Given the description of an element on the screen output the (x, y) to click on. 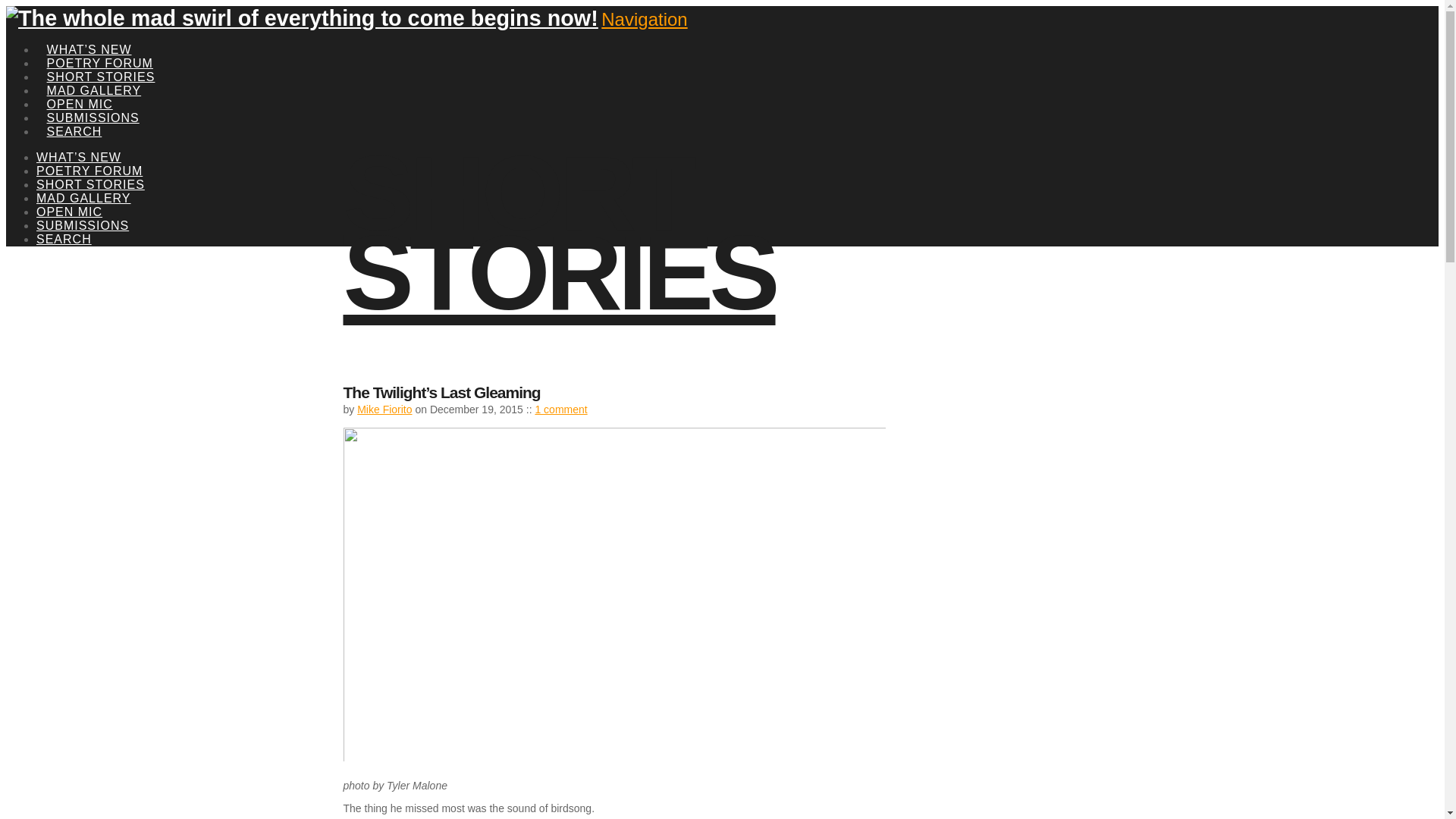
MAD GALLERY (83, 197)
Short Stories (558, 232)
SHORT STORIES (100, 59)
Posts by Mike Fiorito (384, 409)
SHORT STORIES (90, 184)
OPEN MIC (79, 86)
Mike Fiorito (384, 409)
SUBMISSIONS (92, 100)
SHORT STORIES (558, 232)
The whole mad swirl of everything to come begins now! (301, 17)
POETRY FORUM (99, 45)
post comments (560, 409)
SEARCH (74, 114)
SEARCH (63, 238)
POETRY FORUM (89, 170)
